Given the description of an element on the screen output the (x, y) to click on. 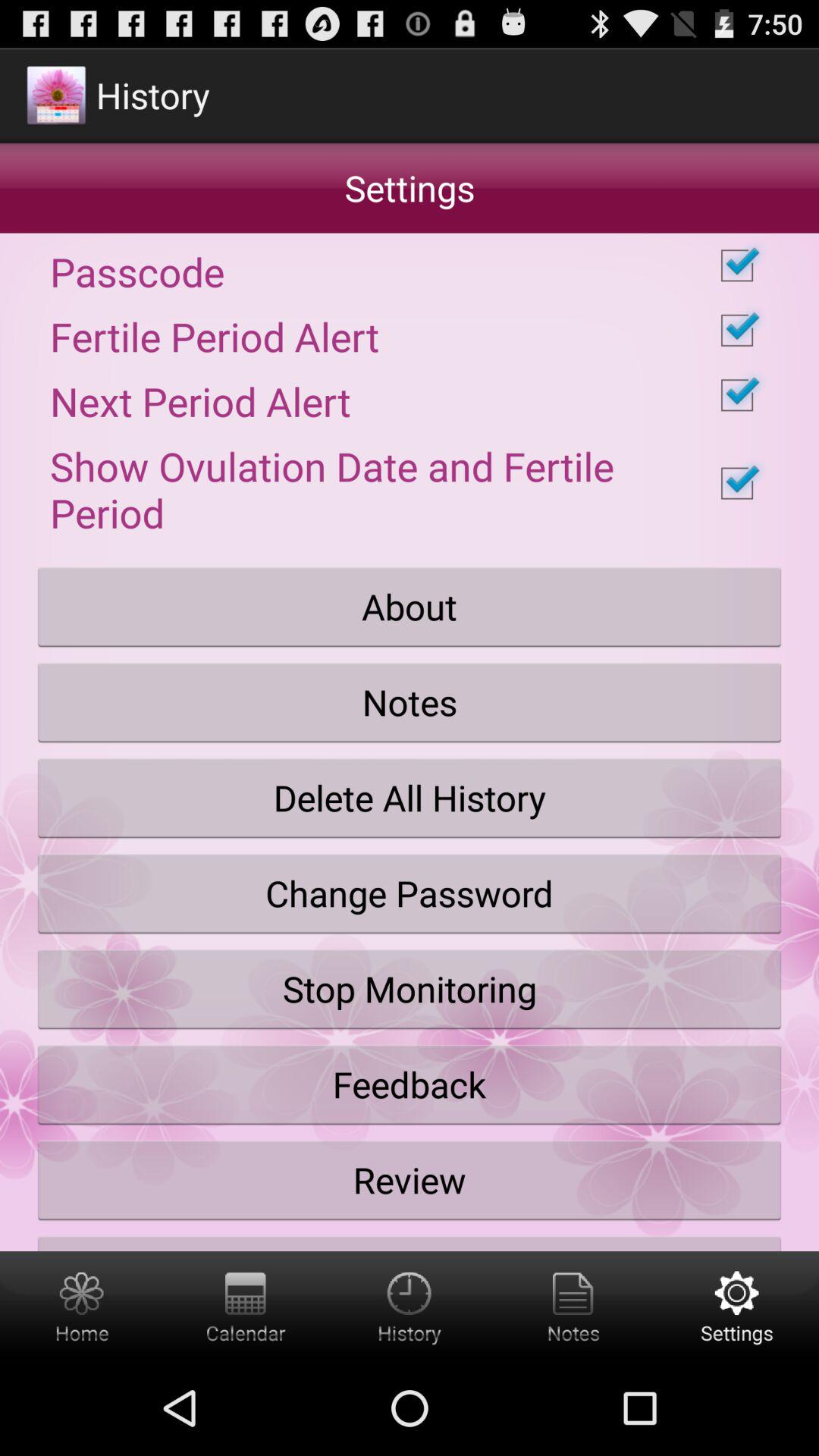
go to calendar (245, 1305)
